Given the description of an element on the screen output the (x, y) to click on. 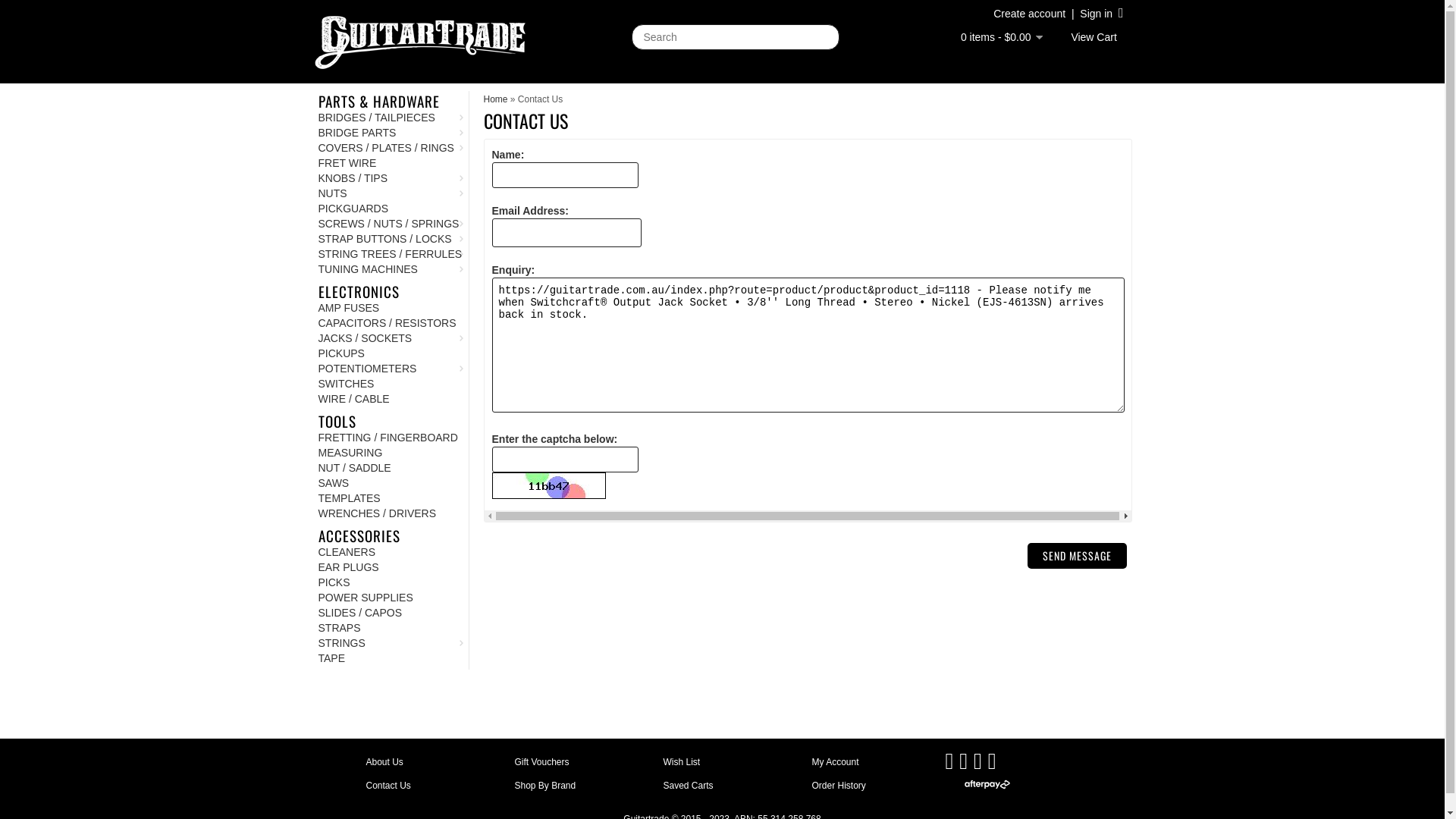
POWER SUPPLIES Element type: text (389, 597)
WRENCHES / DRIVERS Element type: text (389, 512)
FRET WIRE Element type: text (389, 162)
Create account Element type: text (1029, 13)
TEMPLATES Element type: text (389, 497)
STRAPS Element type: text (389, 627)
SLIDES / CAPOS Element type: text (389, 612)
EAR PLUGS Element type: text (389, 566)
POTENTIOMETERS Element type: text (389, 368)
NUT / SADDLE Element type: text (389, 467)
Contact Us Element type: text (387, 785)
Home Element type: text (495, 99)
COVERS / PLATES / RINGS Element type: text (389, 147)
JACKS / SOCKETS Element type: text (389, 337)
AMP FUSES Element type: text (389, 307)
MEASURING Element type: text (389, 452)
STRAP BUTTONS / LOCKS Element type: text (389, 238)
TAPE Element type: text (389, 657)
STRING TREES / FERRULES Element type: text (389, 253)
Send Message Element type: text (1076, 555)
My Account Element type: text (834, 761)
KNOBS / TIPS Element type: text (389, 177)
PICKGUARDS Element type: text (389, 208)
Gift Vouchers Element type: text (541, 761)
About Us Element type: text (383, 761)
View Cart     Element type: text (1097, 36)
FRETTING / FINGERBOARD Element type: text (389, 437)
CAPACITORS / RESISTORS Element type: text (389, 322)
STRINGS Element type: text (389, 642)
WIRE / CABLE Element type: text (389, 398)
BRIDGE PARTS Element type: text (389, 132)
Sign in   Element type: text (1101, 13)
Order History Element type: text (838, 785)
Shop By Brand Element type: text (544, 785)
0 items - $0.00 Element type: text (1001, 37)
SWITCHES Element type: text (389, 383)
Guitartrade Element type: hover (419, 42)
PICKS Element type: text (389, 581)
CLEANERS Element type: text (389, 551)
TUNING MACHINES Element type: text (389, 268)
SAWS Element type: text (389, 482)
Saved Carts Element type: text (687, 785)
SCREWS / NUTS / SPRINGS Element type: text (389, 223)
BRIDGES / TAILPIECES Element type: text (389, 117)
NUTS Element type: text (389, 192)
PICKUPS Element type: text (389, 352)
Wish List Element type: text (680, 761)
